Given the description of an element on the screen output the (x, y) to click on. 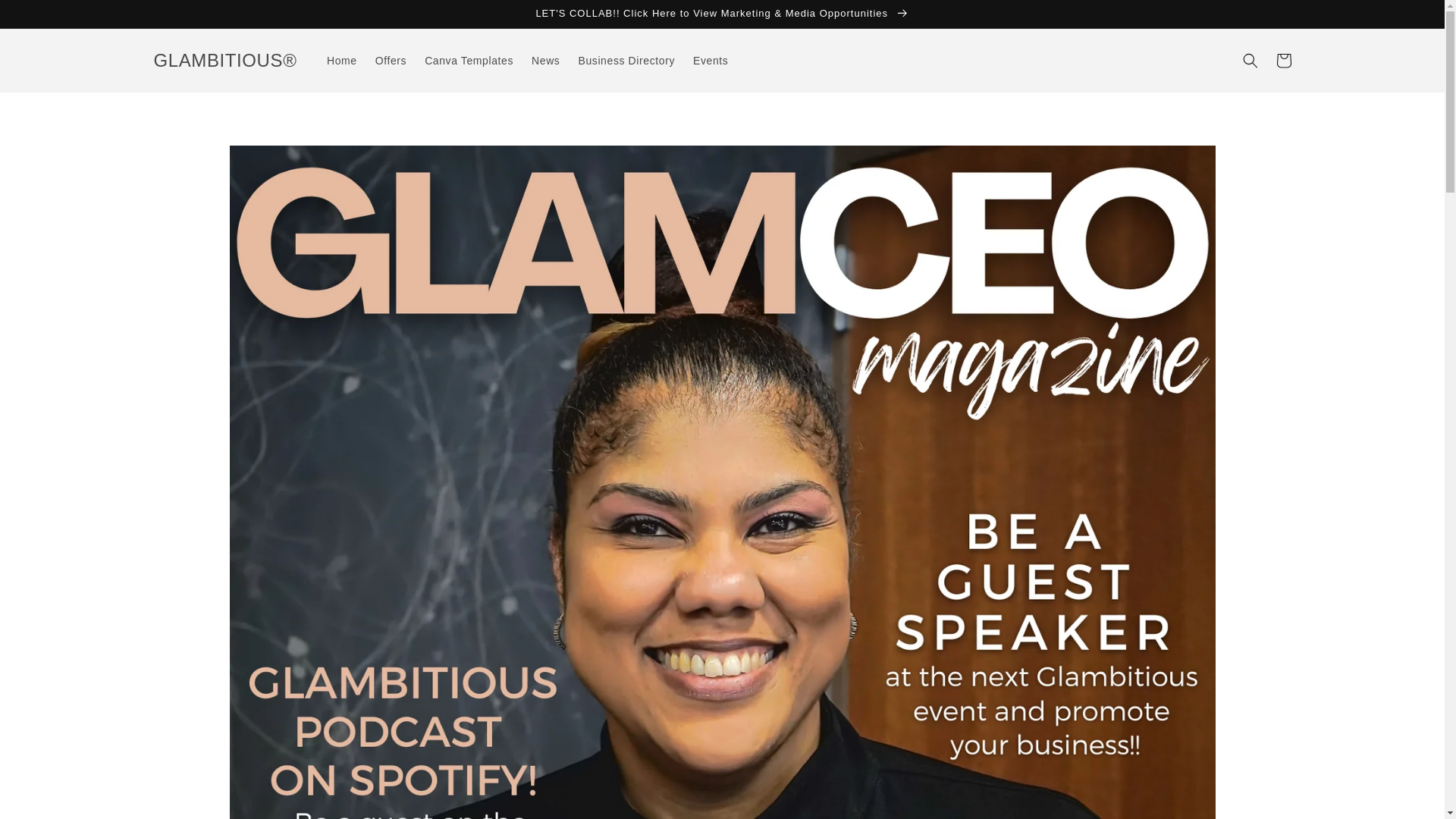
Business Directory (626, 60)
Cart (1283, 60)
Home (341, 60)
Offers (390, 60)
Skip to content (45, 16)
Events (710, 60)
News (545, 60)
Canva Templates (468, 60)
